Given the description of an element on the screen output the (x, y) to click on. 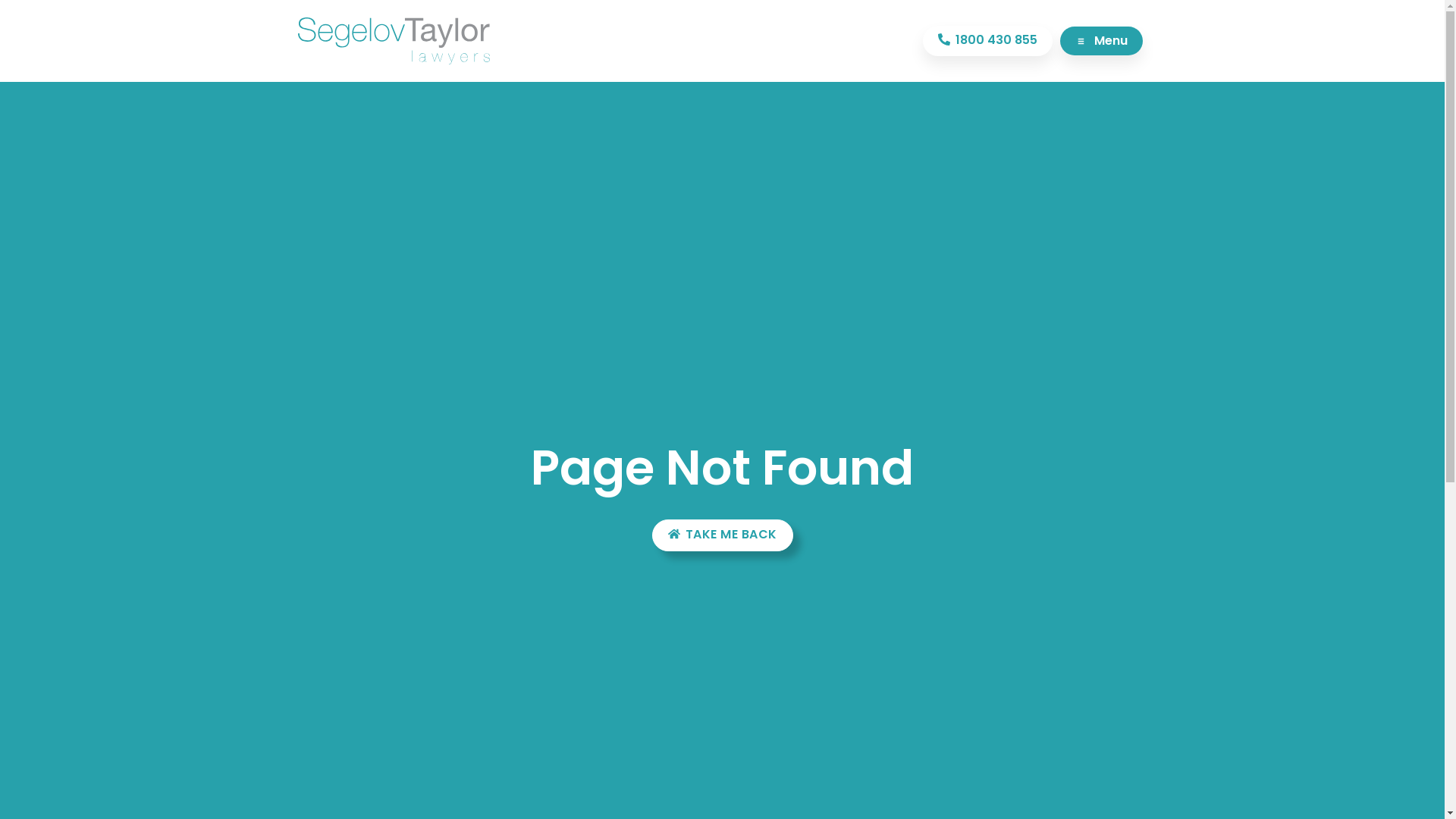
TAKE ME BACK Element type: text (722, 535)
1800 430 855 Element type: text (987, 40)
